Given the description of an element on the screen output the (x, y) to click on. 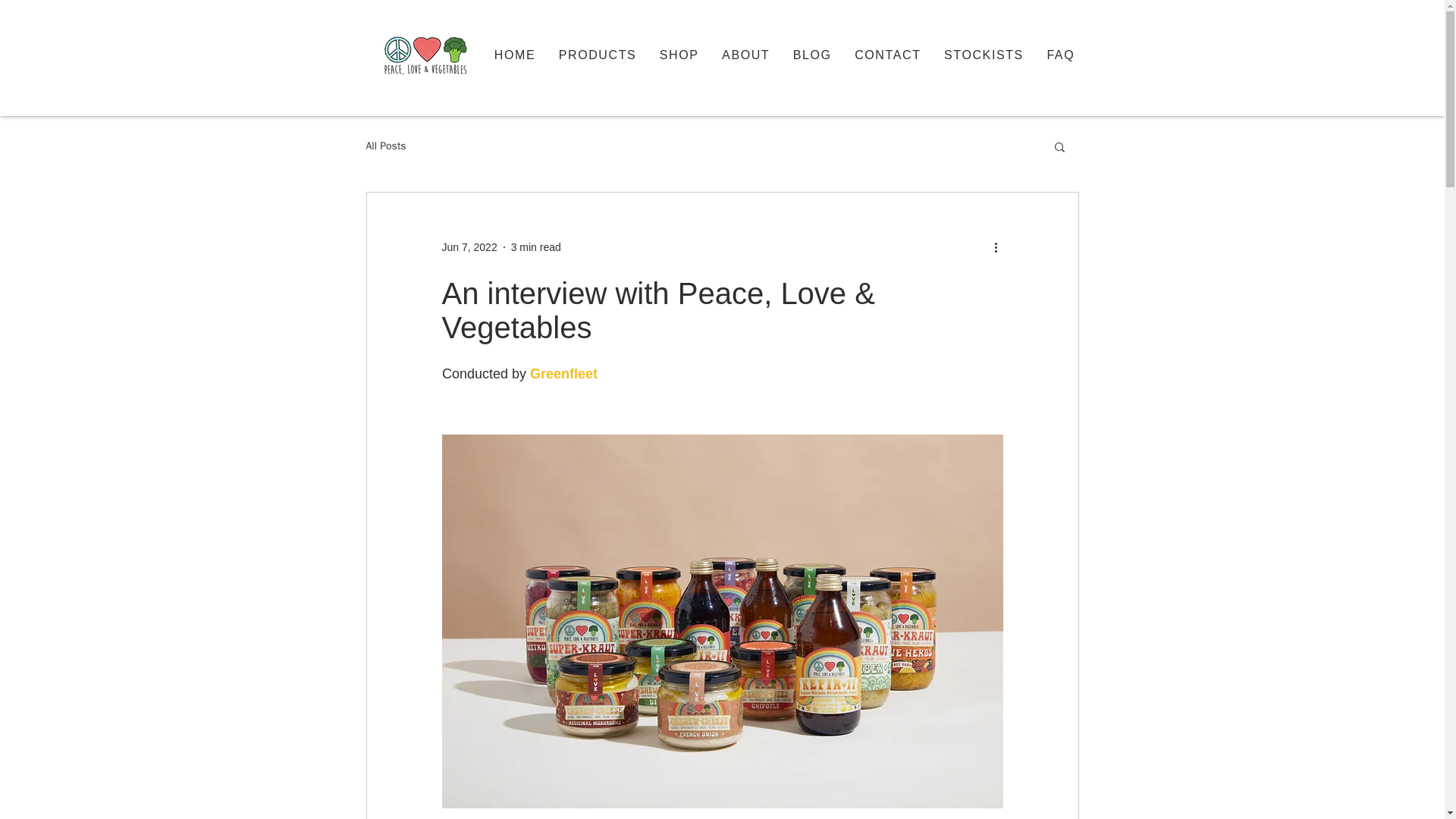
Greenfleet (562, 373)
HOME (514, 54)
SHOP (678, 54)
All Posts (385, 146)
BLOG (811, 54)
CONTACT (888, 54)
PRODUCTS (597, 54)
3 min read (535, 246)
Jun 7, 2022 (468, 246)
ABOUT (745, 54)
FAQ (1060, 54)
STOCKISTS (984, 54)
